Given the description of an element on the screen output the (x, y) to click on. 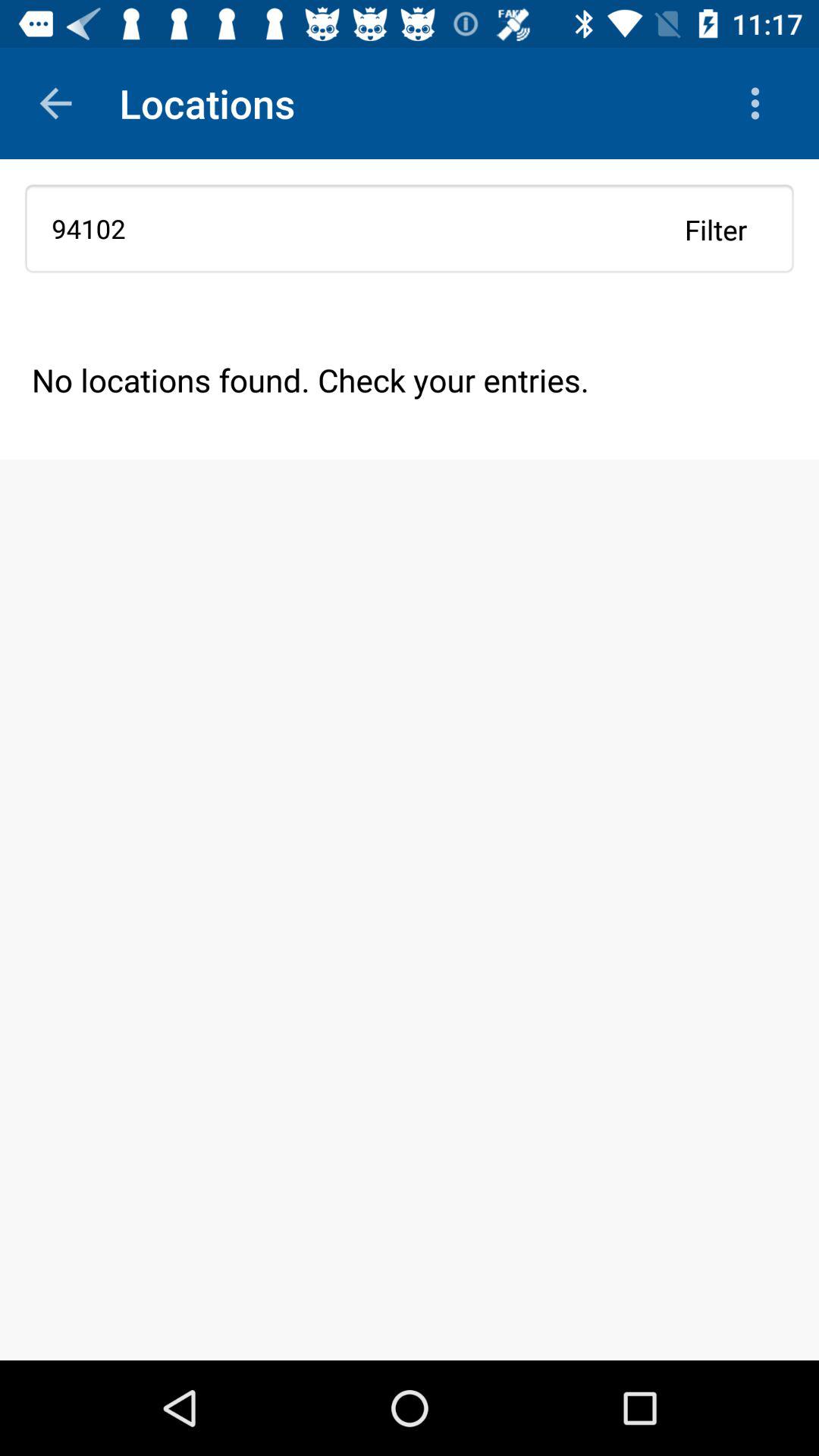
select the app above 94102 app (55, 103)
